Given the description of an element on the screen output the (x, y) to click on. 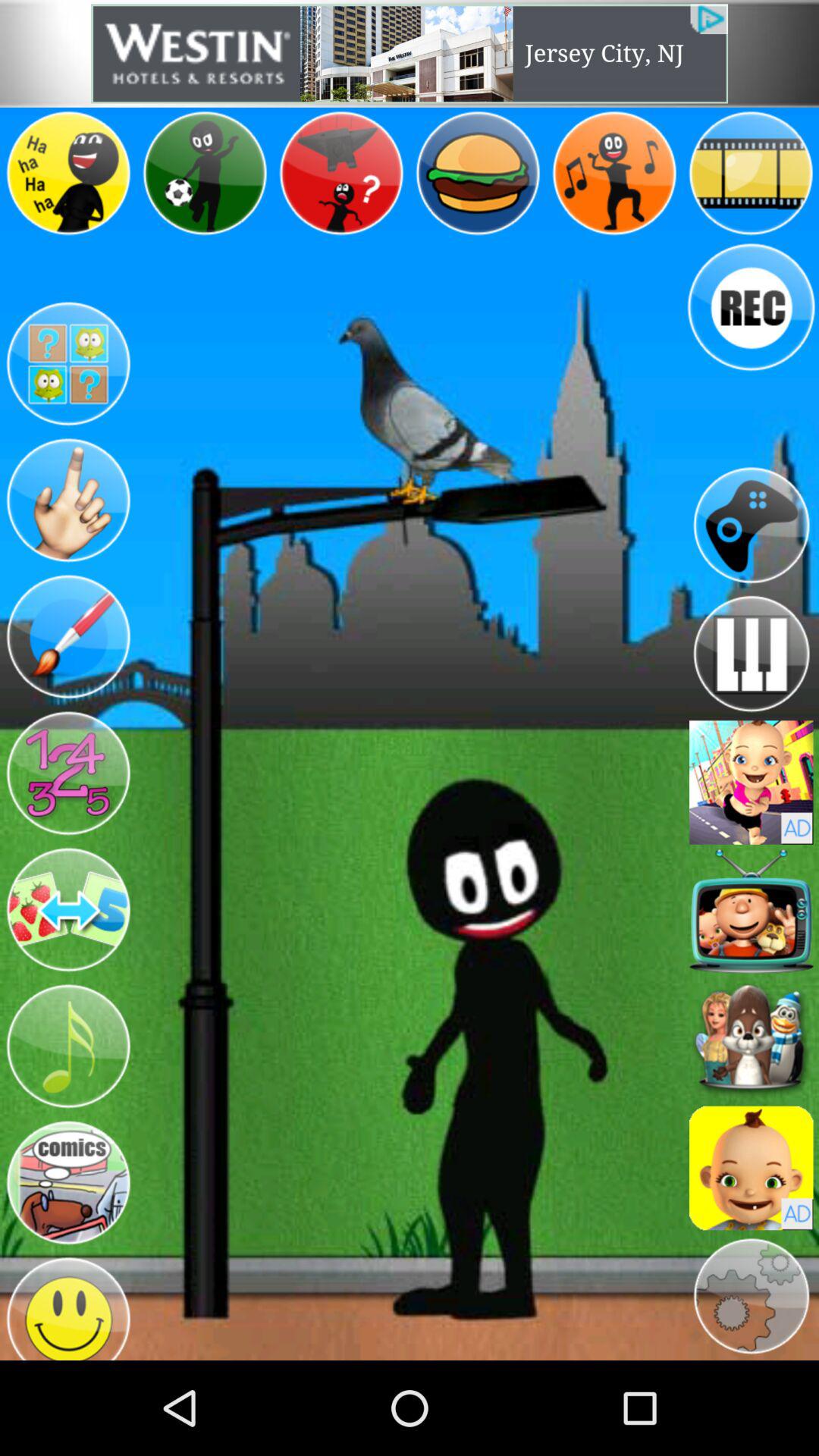
brush paint option (68, 636)
